Given the description of an element on the screen output the (x, y) to click on. 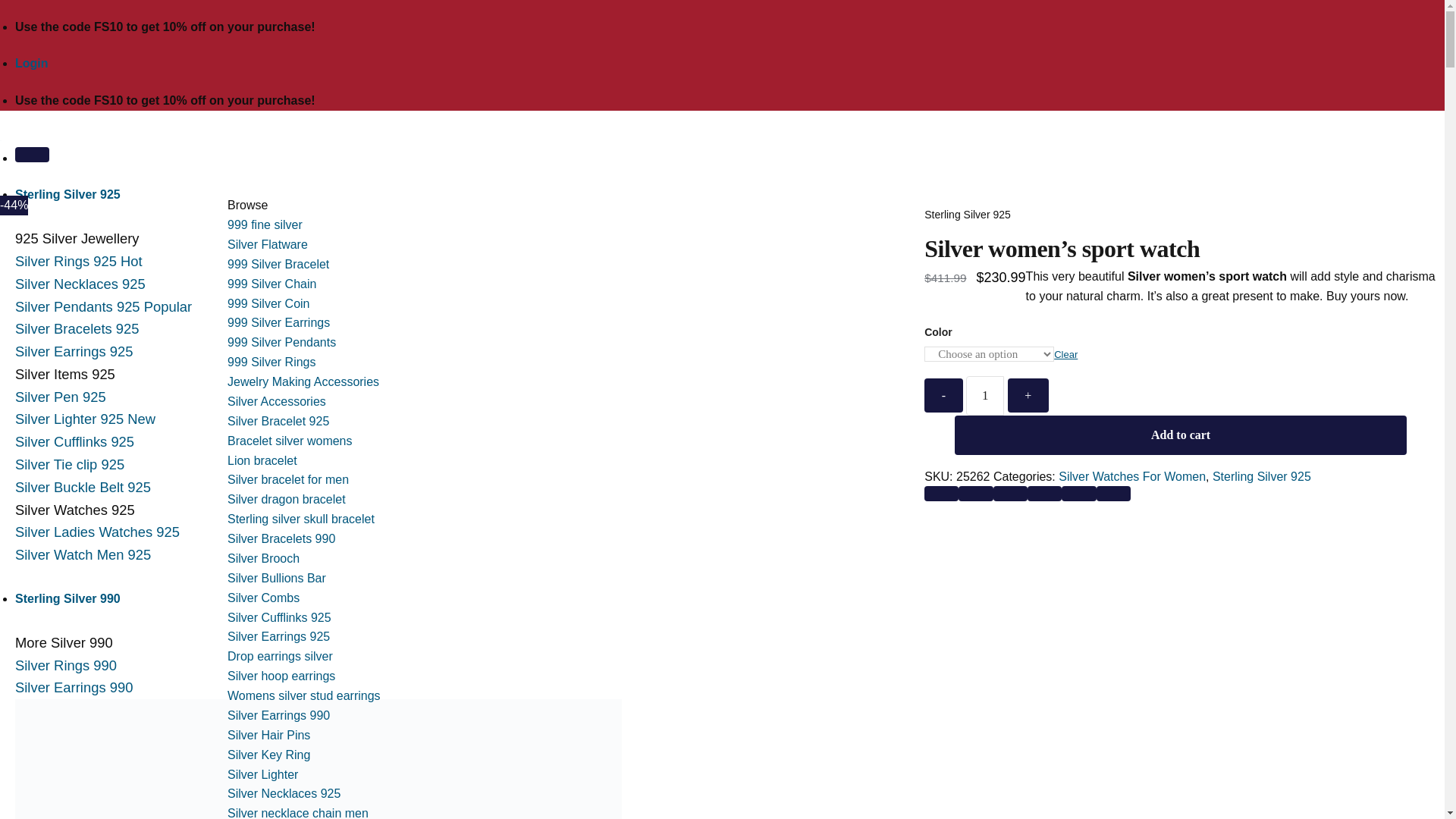
Silver Rings 990 (65, 665)
Silver Pen 925 (60, 396)
Silver Cufflinks 925 (73, 441)
Pin on Pinterest (1078, 493)
Silver Ladies Watches 925 (96, 531)
Silver Rings 925 (78, 261)
Silver Bracelets 925 (76, 328)
Sterling Silver 990 (67, 598)
Share on Facebook (975, 493)
Silver Watch Men 925 (82, 554)
Share on Twitter (1009, 493)
Share on LinkedIn (1113, 493)
Share on WhatsApp (941, 493)
Silver Lighter 925 (84, 418)
